Given the description of an element on the screen output the (x, y) to click on. 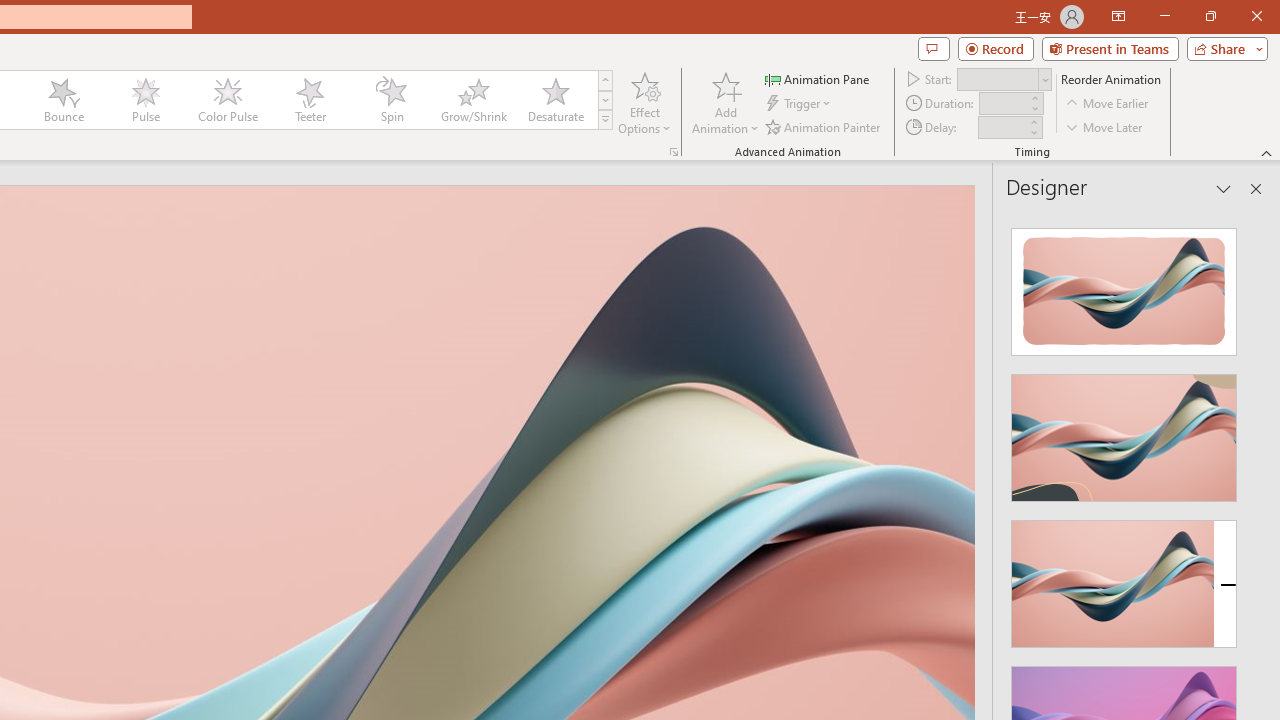
Desaturate (555, 100)
Animation Pane (818, 78)
More Options... (673, 151)
Bounce (63, 100)
Animation Painter (824, 126)
Move Later (1105, 126)
Animation Duration (1003, 103)
Recommended Design: Design Idea (1124, 286)
